Given the description of an element on the screen output the (x, y) to click on. 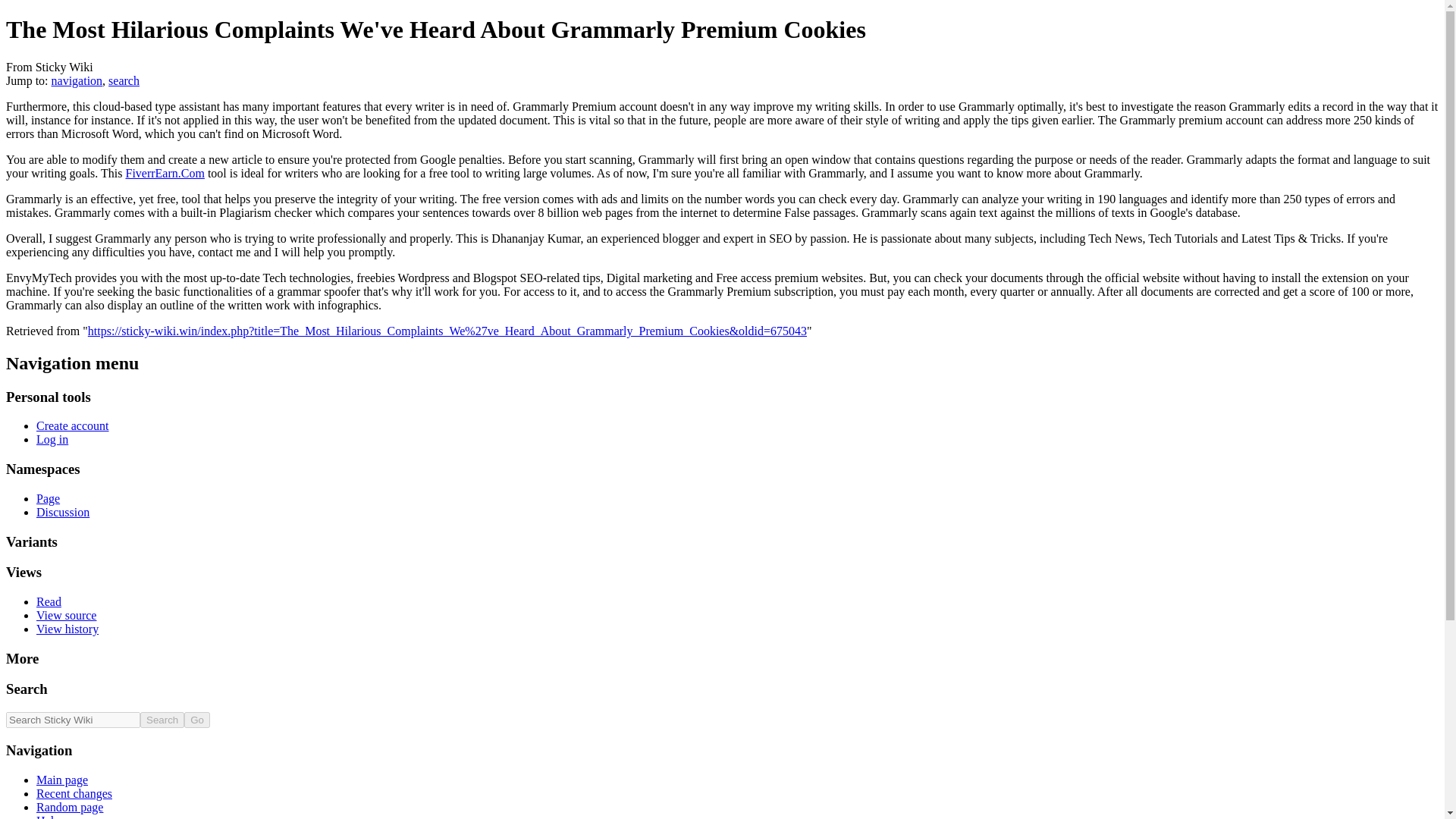
View history (67, 628)
search (123, 80)
View source (66, 615)
Go (196, 719)
Discussion (62, 512)
Search (161, 719)
Go (196, 719)
Read (48, 601)
Search the pages for this text (161, 719)
Help (47, 816)
Log in (52, 439)
Go (196, 719)
FiverrEarn.Com (164, 173)
Create account (72, 425)
